Given the description of an element on the screen output the (x, y) to click on. 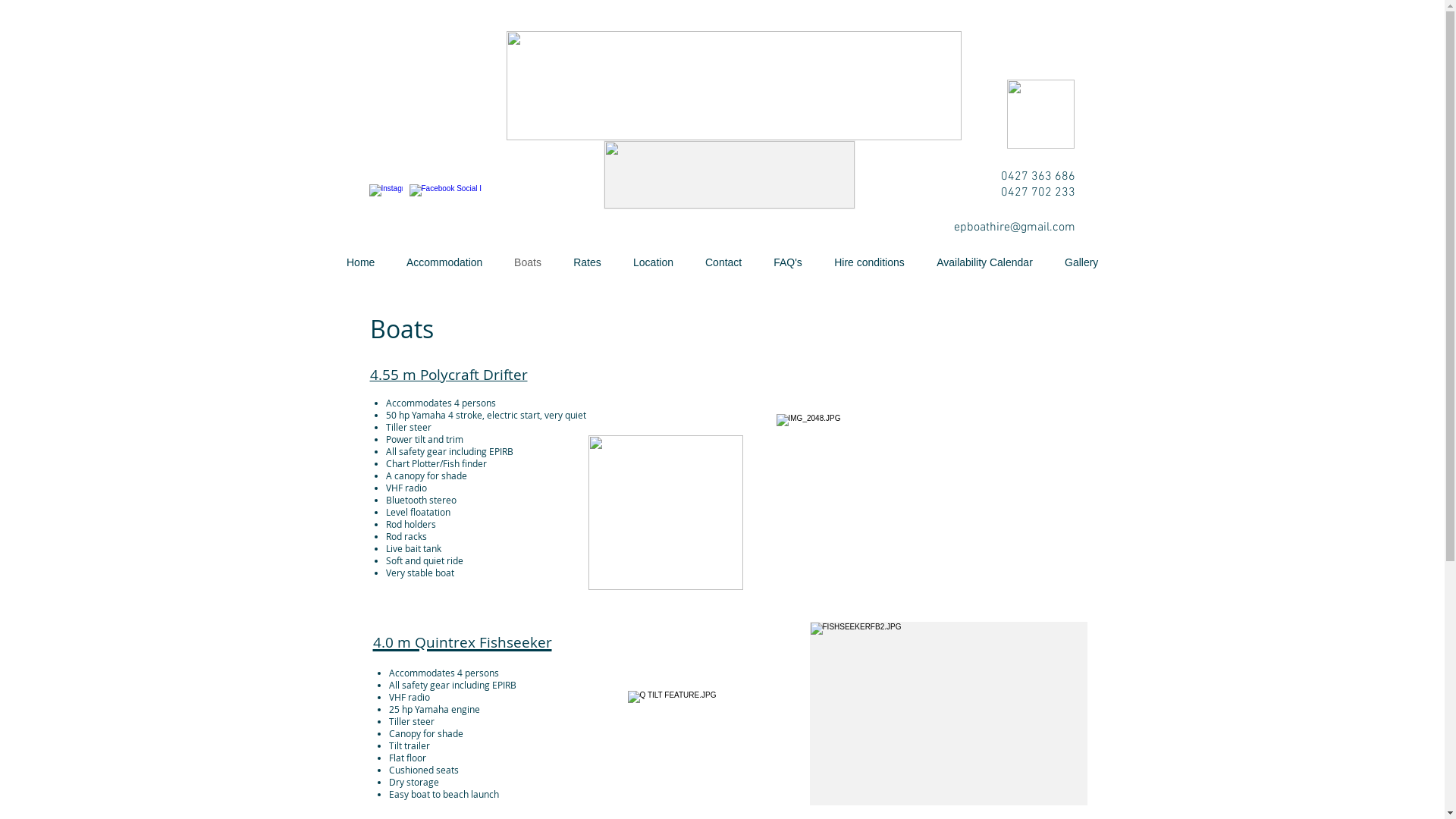
Hire conditions Element type: text (869, 262)
Rates Element type: text (587, 262)
4.0 m Quintrex with flat floor Element type: hover (948, 713)
Location Element type: text (653, 262)
Embedded Content Element type: hover (426, 110)
Availability Calendar Element type: text (984, 262)
Home Element type: text (360, 262)
epboathire@gmail.com Element type: text (1014, 227)
Gallery Element type: text (1080, 262)
Contact Element type: text (723, 262)
Brand_SouthAust1_RGB.jpg Element type: hover (1040, 113)
FAQ's Element type: text (787, 262)
DSC_0602.JPG Element type: hover (931, 501)
flattie.jpg Element type: hover (729, 174)
Accommodation Element type: text (444, 262)
Boats Element type: text (527, 262)
